Given the description of an element on the screen output the (x, y) to click on. 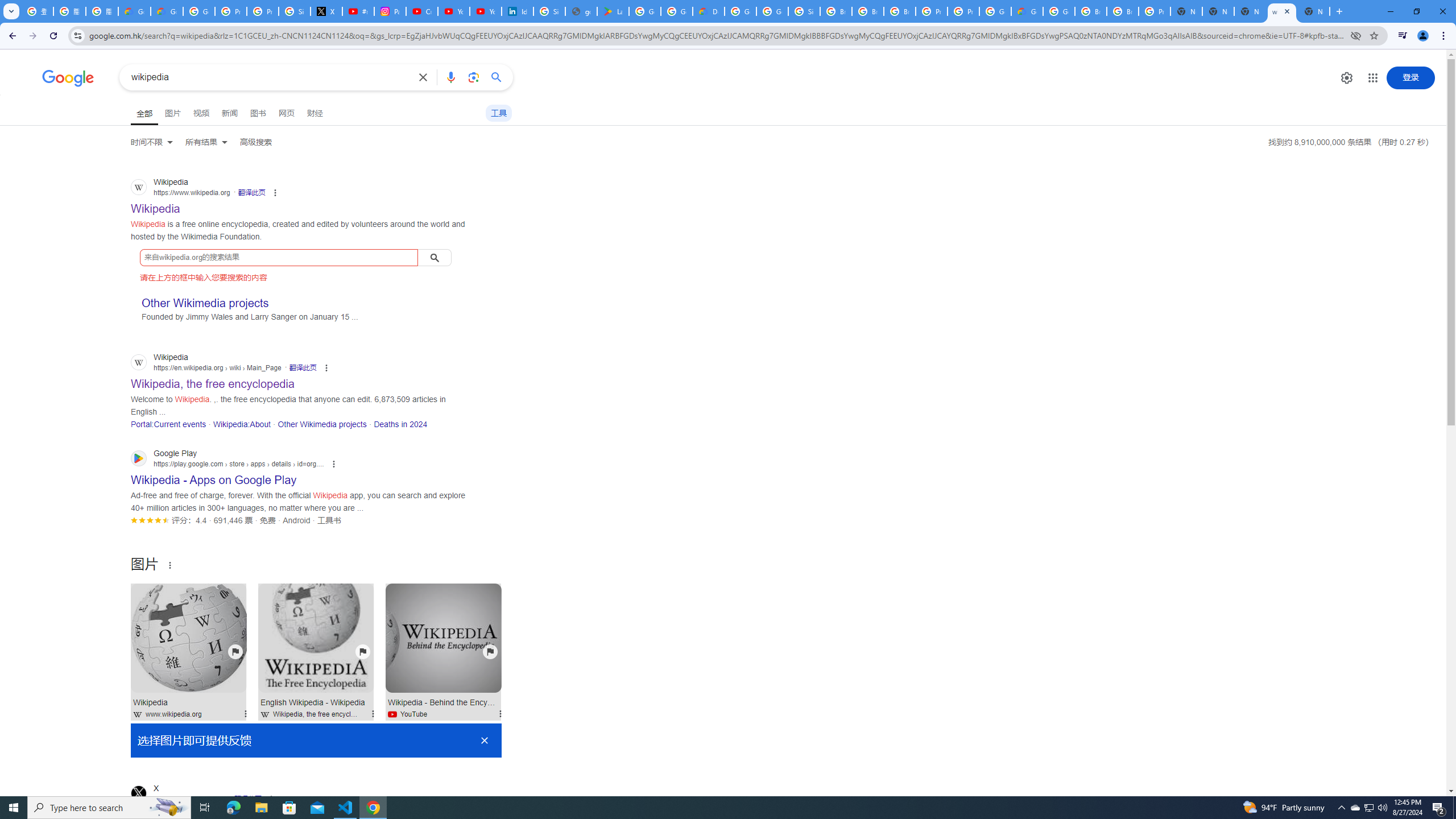
Sign in - Google Accounts (294, 11)
Google Cloud Estimate Summary (1027, 11)
google_privacy_policy_en.pdf (581, 11)
Sign in - Google Accounts (804, 11)
